Given the description of an element on the screen output the (x, y) to click on. 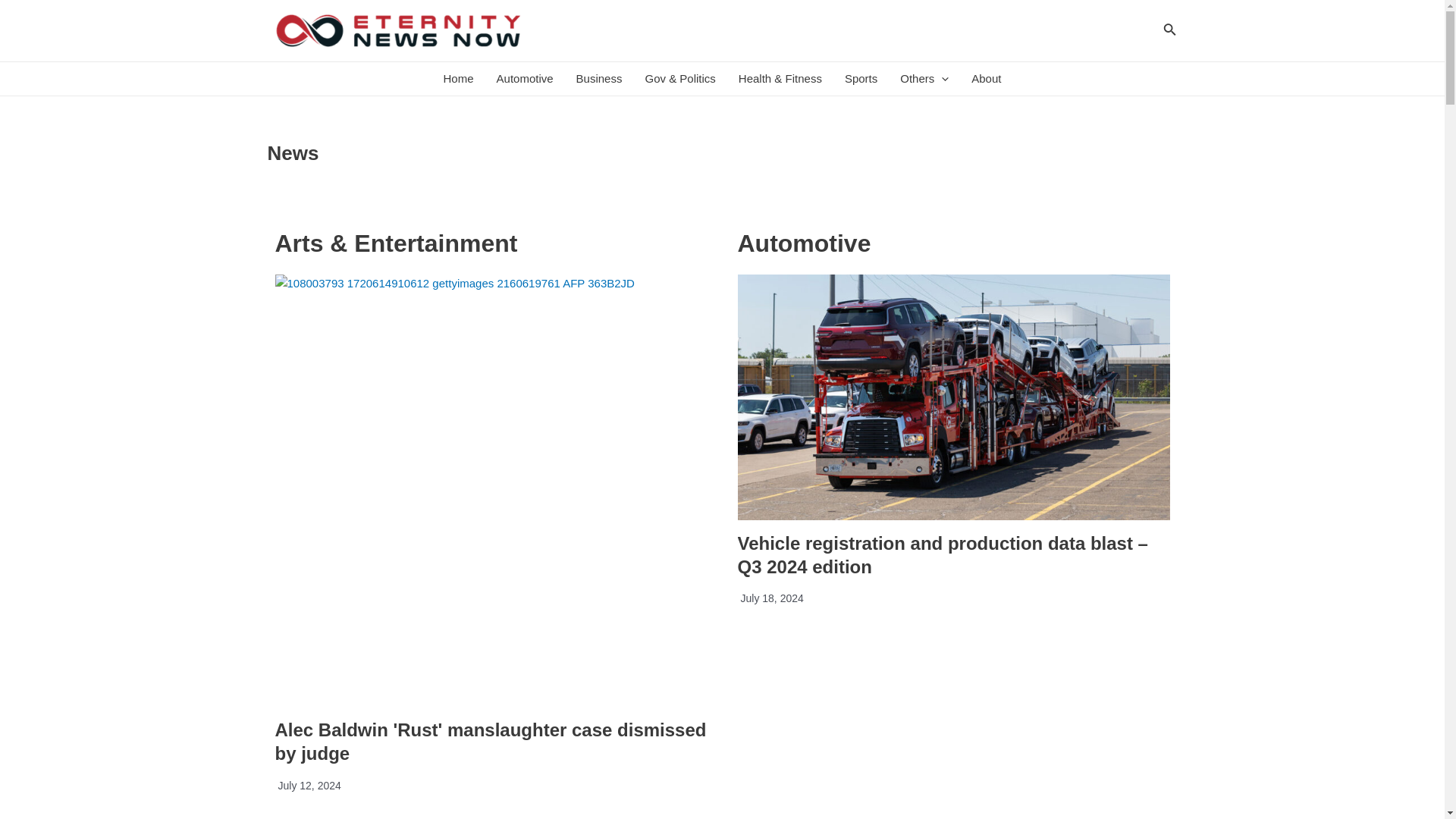
About (985, 78)
Automotive (524, 78)
Others (923, 78)
Home (458, 78)
Business (598, 78)
Sports (860, 78)
